Given the description of an element on the screen output the (x, y) to click on. 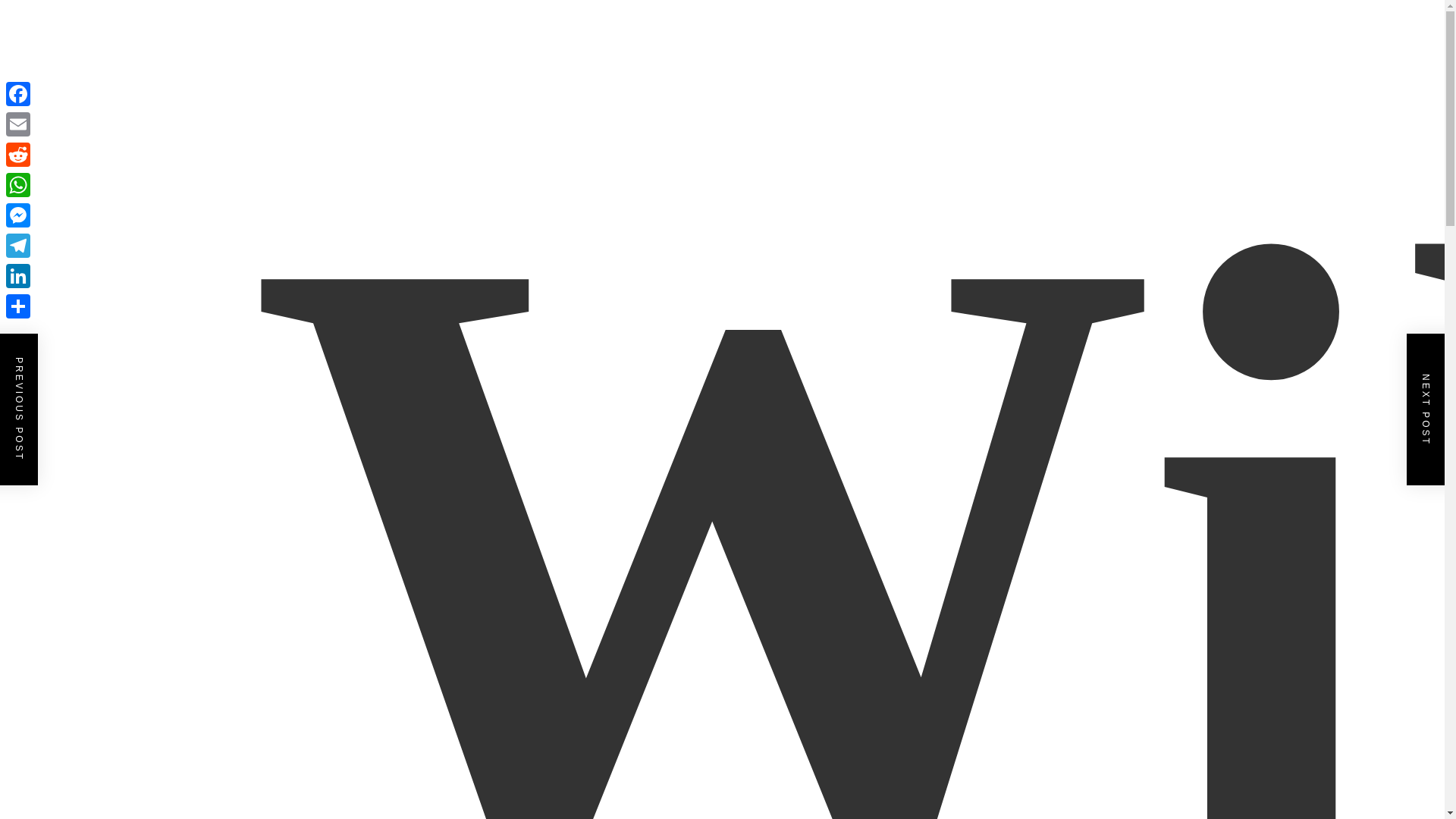
Messenger (17, 214)
Reddit (17, 154)
LinkedIn (17, 276)
Telegram (17, 245)
WhatsApp (17, 184)
Email (17, 123)
Facebook (17, 93)
